Given the description of an element on the screen output the (x, y) to click on. 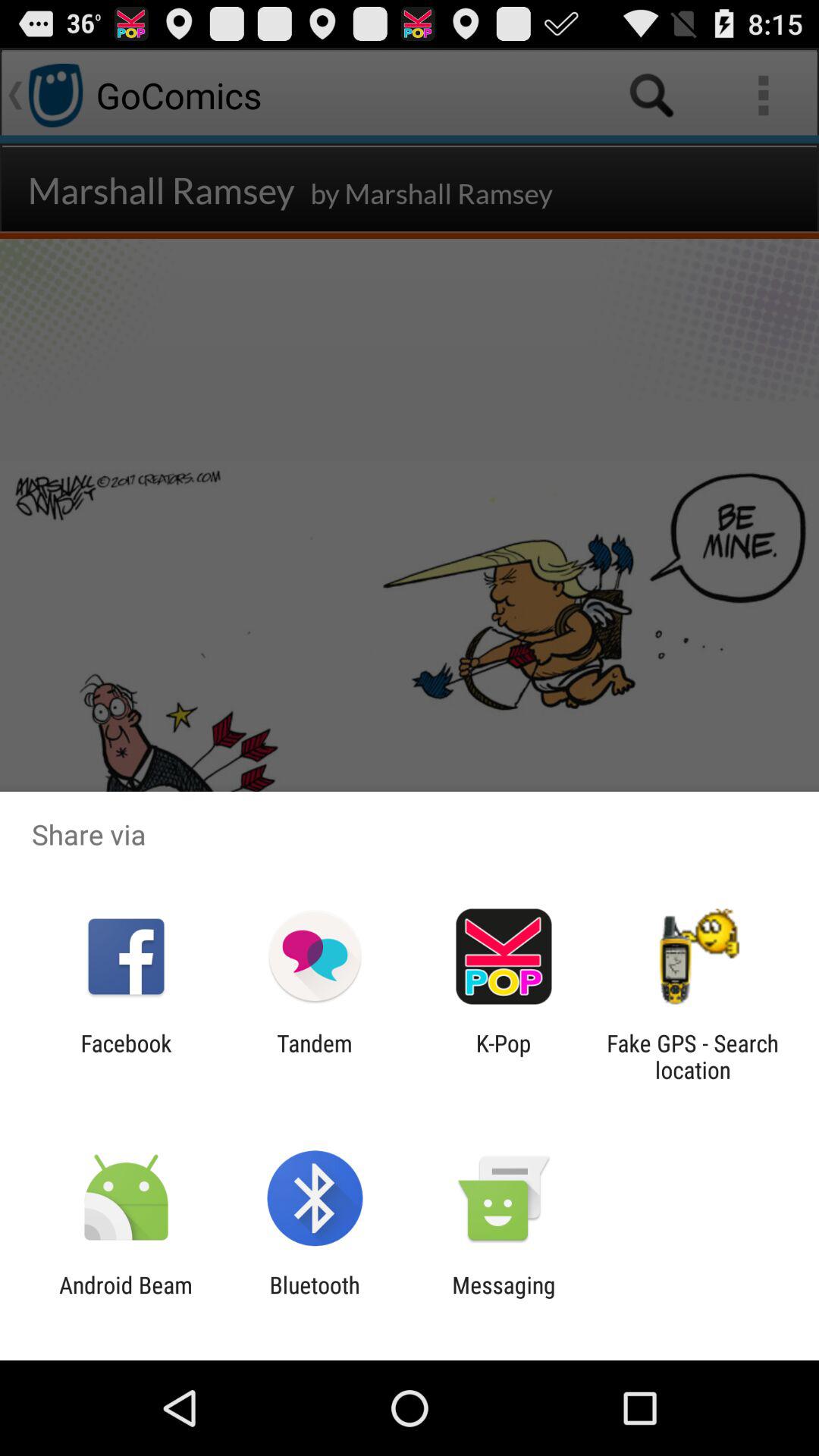
choose icon at the bottom right corner (692, 1056)
